Given the description of an element on the screen output the (x, y) to click on. 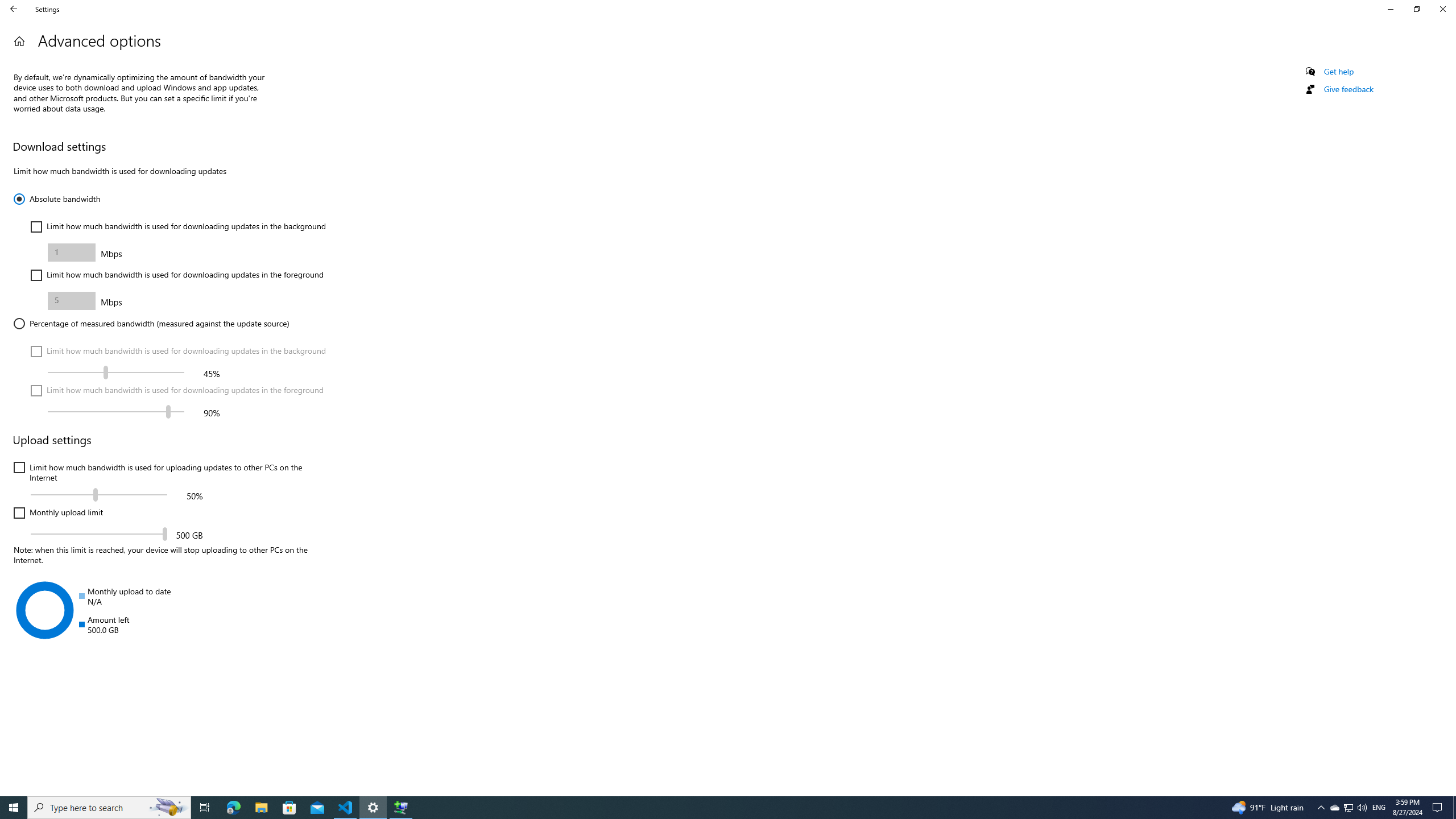
Give feedback (1348, 88)
Absolute background bandwidth (72, 252)
Absolute bandwidth (56, 199)
